Given the description of an element on the screen output the (x, y) to click on. 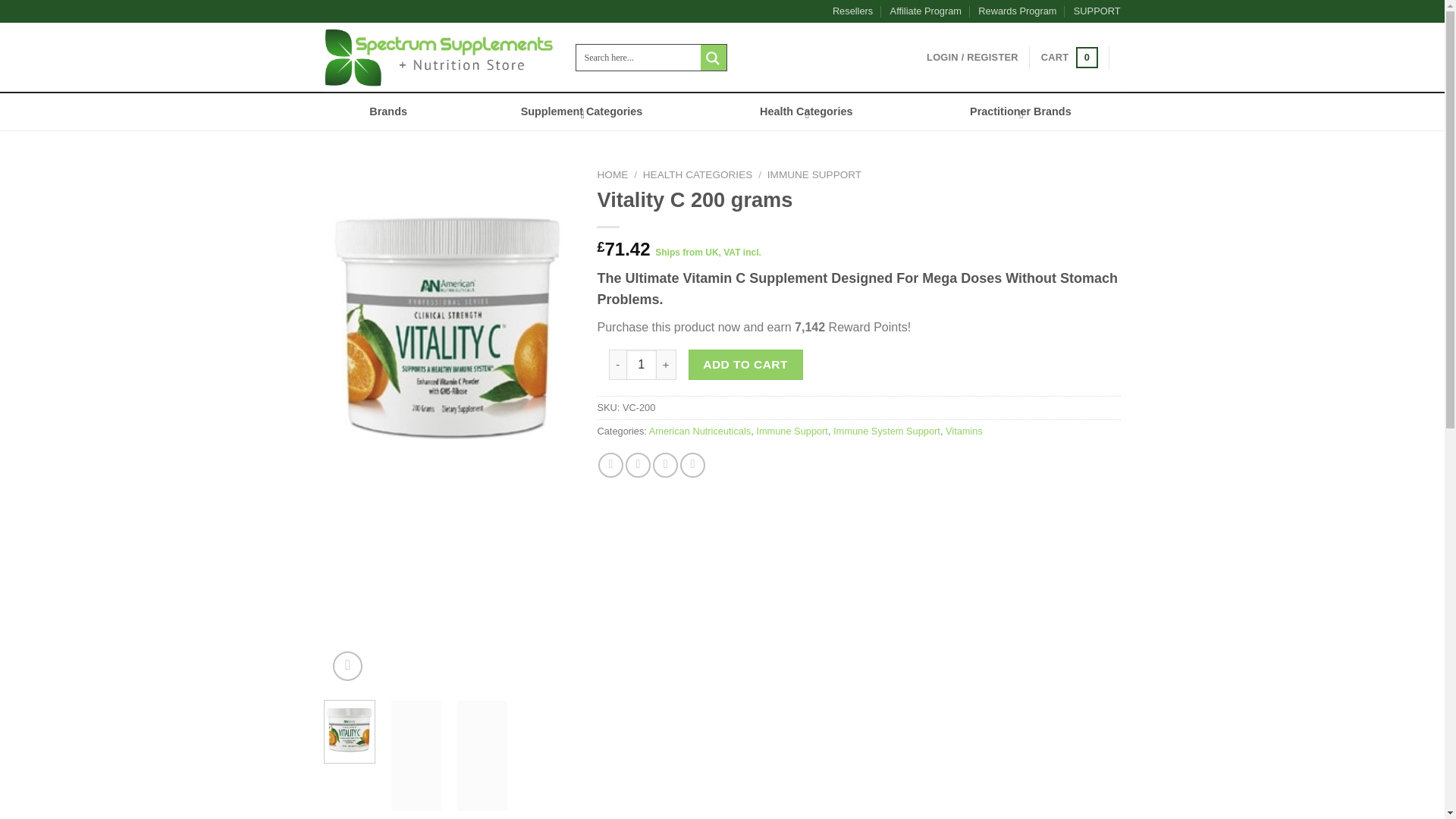
Cart (1069, 57)
Share on Twitter (638, 464)
Resellers (852, 11)
Share on Facebook (610, 464)
Supplement Categories (583, 111)
Login (971, 57)
Brands (388, 111)
Affiliate Program (924, 11)
SUPPORT (1097, 11)
